Given the description of an element on the screen output the (x, y) to click on. 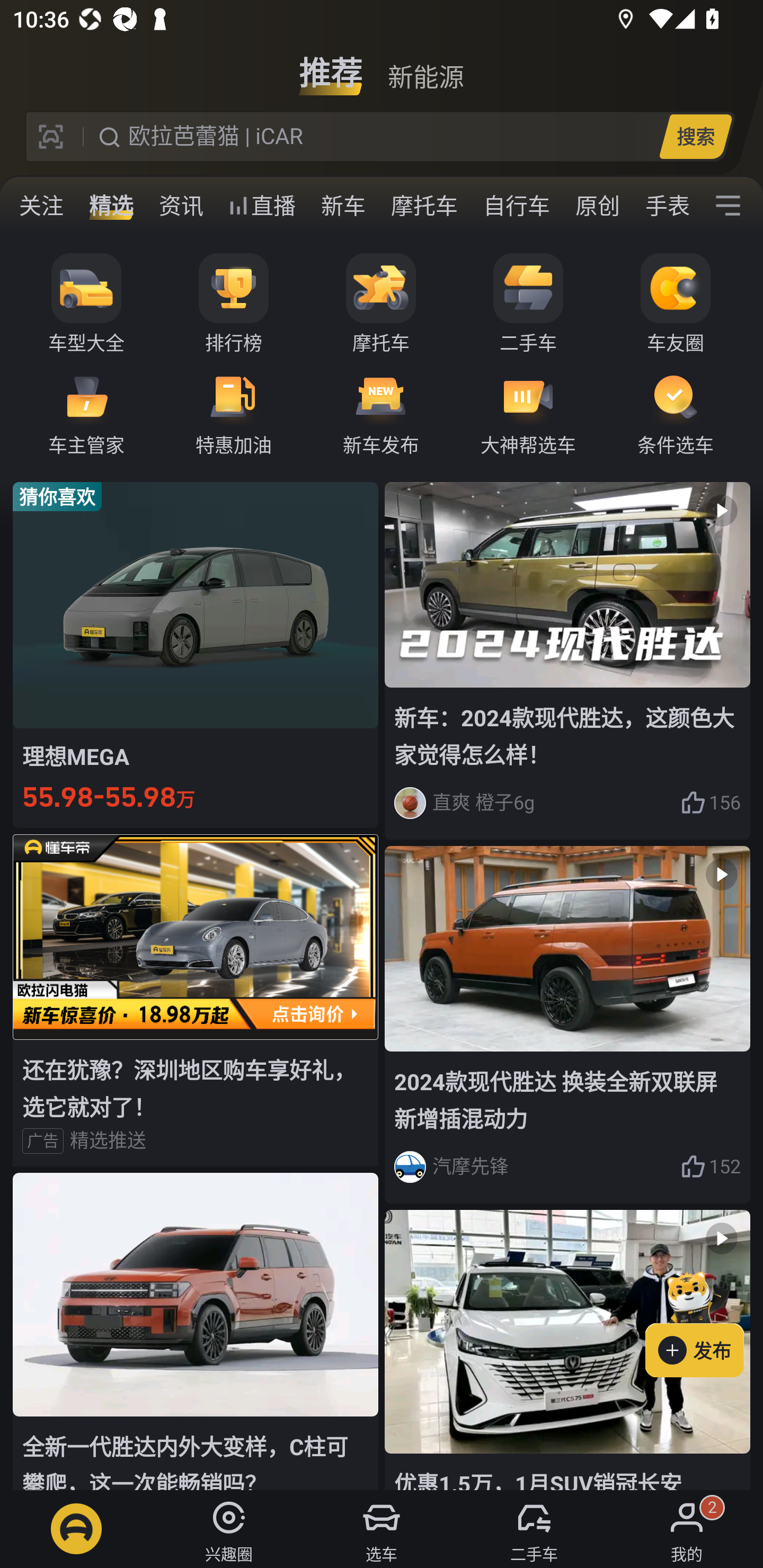
推荐 (330, 65)
新能源 (425, 65)
搜索 (695, 136)
关注 (41, 205)
精选 (111, 205)
资讯 (180, 205)
直播 (261, 205)
新车 (343, 205)
摩托车 (424, 205)
自行车 (516, 205)
原创 (597, 205)
手表 (663, 205)
 (727, 205)
车型大全 (86, 303)
排行榜 (233, 303)
摩托车 (380, 303)
二手车 (528, 303)
车友圈 (675, 303)
车主管家 (86, 412)
特惠加油 (233, 412)
新车发布 (380, 412)
大神帮选车 (528, 412)
条件选车 (675, 412)
猜你喜欢 理想MEGA 55.98-55.98万 (195, 654)
 新车：2024款现代胜达，这颜色大家觉得怎么样！ 直爽 橙子6g 156 (567, 659)
156 (710, 802)
还在犹豫？深圳地区购车享好礼，选它就对了！ 广告 精选推送 (195, 1000)
 2024款现代胜达 换装全新双联屏 新增插混动力 汽摩先锋 152 (567, 1025)
152 (710, 1166)
全新一代胜达内外大变样，C柱可攀爬，这一次能畅销吗？ (195, 1330)
 优惠1.5万，1月SUV销冠长安CS75PLUS为何值得买？性价比是亮点！ (567, 1349)
发布 (704, 1320)
 兴趣圈 (228, 1528)
 选车 (381, 1528)
 二手车 (533, 1528)
 我的 (686, 1528)
